Given the description of an element on the screen output the (x, y) to click on. 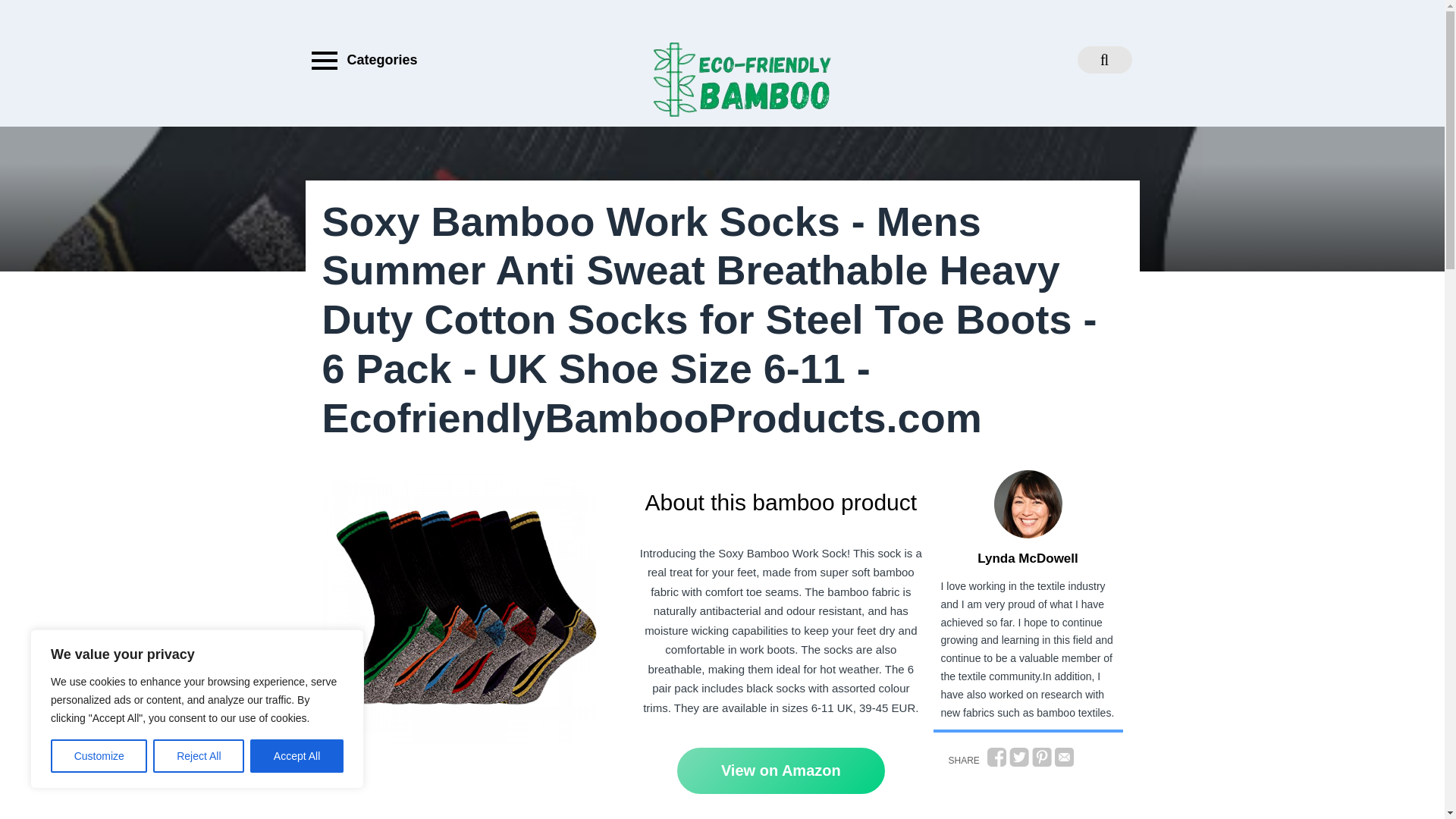
Reject All (198, 756)
EcofriendlyBambooProducts.com (802, 198)
Accept All (296, 756)
Customize (98, 756)
View on Amazon (780, 770)
Categories (360, 59)
